Given the description of an element on the screen output the (x, y) to click on. 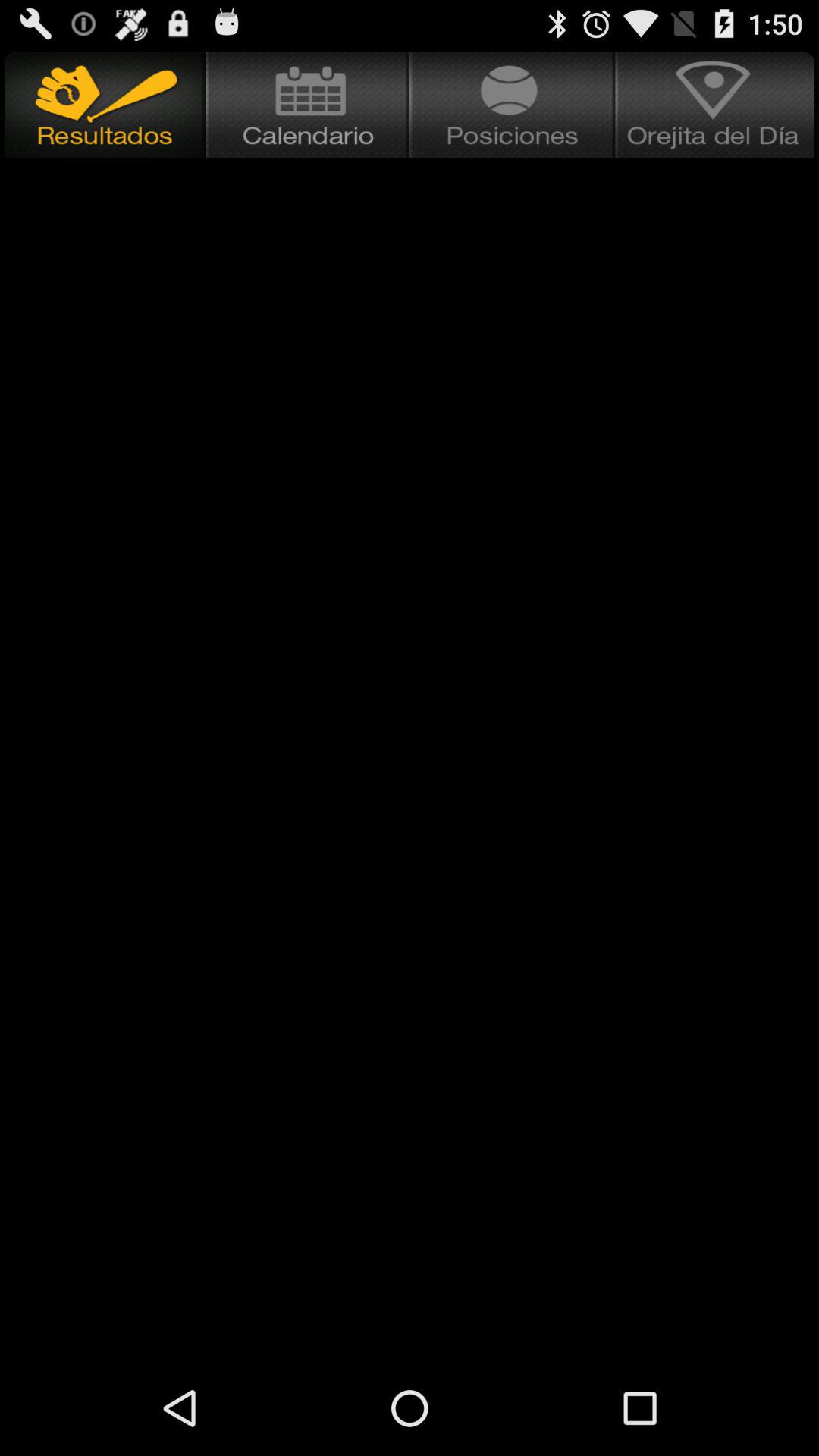
sports results (102, 104)
